Given the description of an element on the screen output the (x, y) to click on. 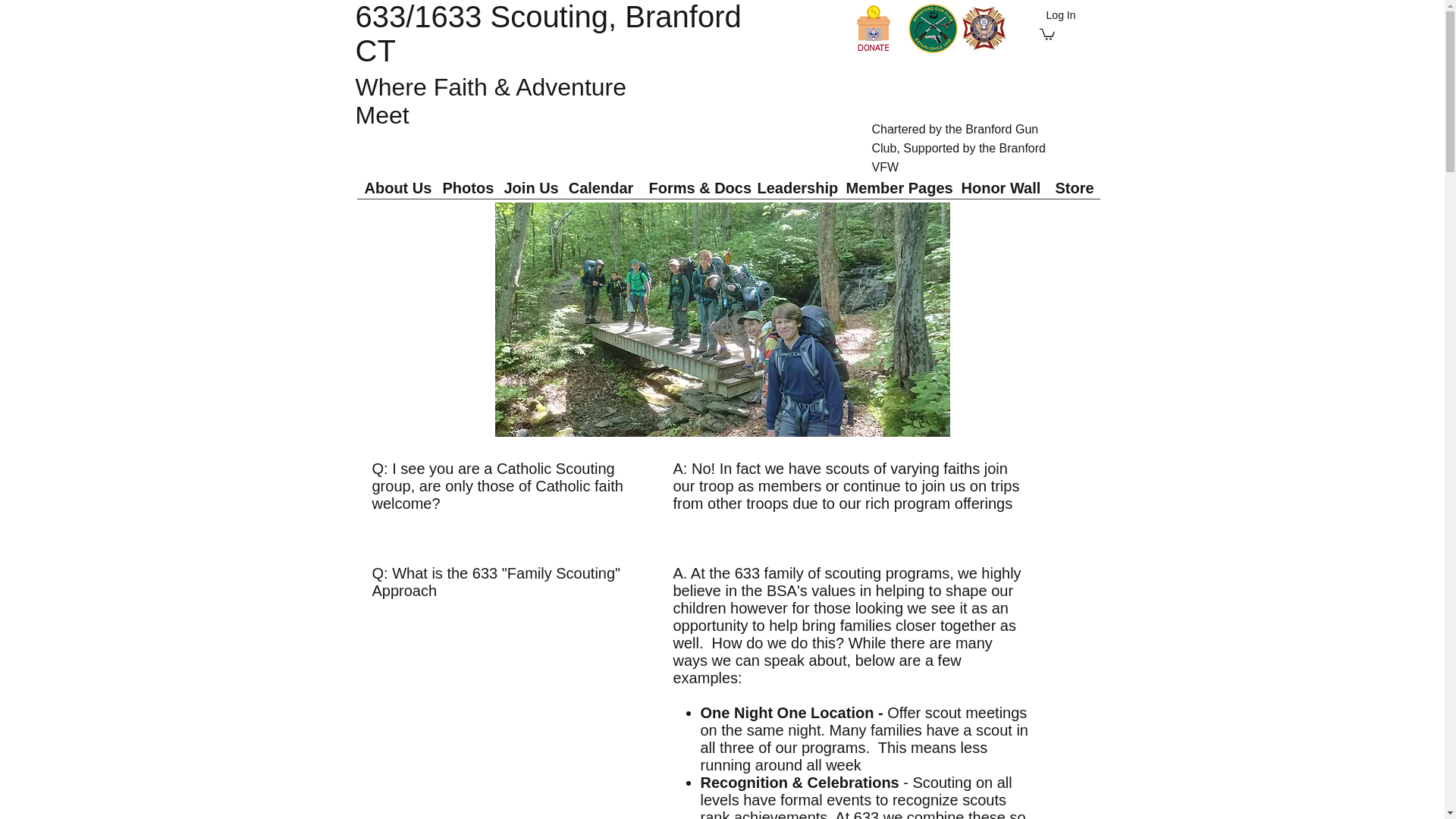
Store (1074, 187)
Calendar (601, 187)
Photos (465, 187)
Honor Wall (1000, 187)
Log In (1047, 14)
Join Us (528, 187)
About Us (394, 187)
